Given the description of an element on the screen output the (x, y) to click on. 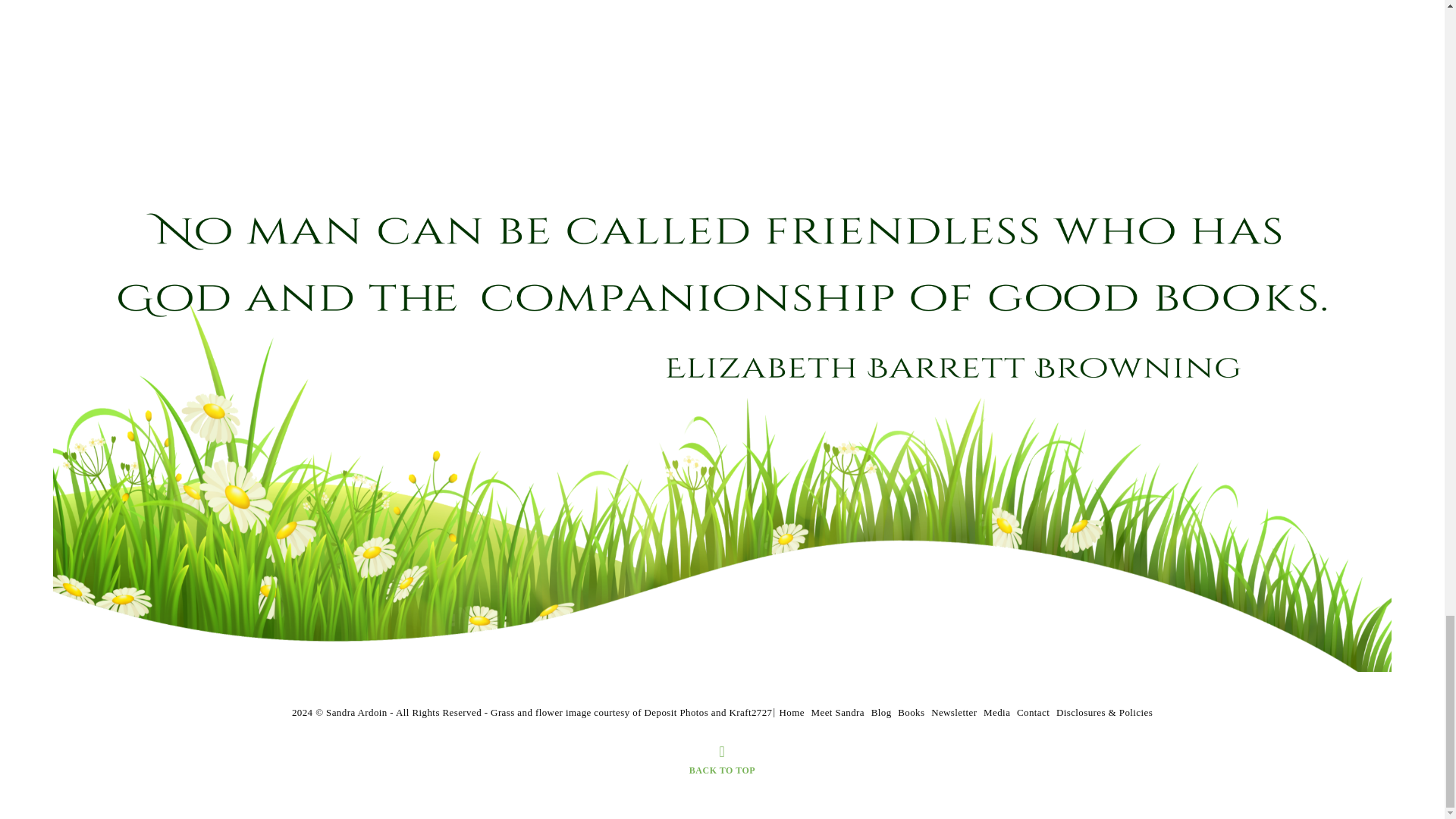
BACK TO TOP (721, 759)
